Given the description of an element on the screen output the (x, y) to click on. 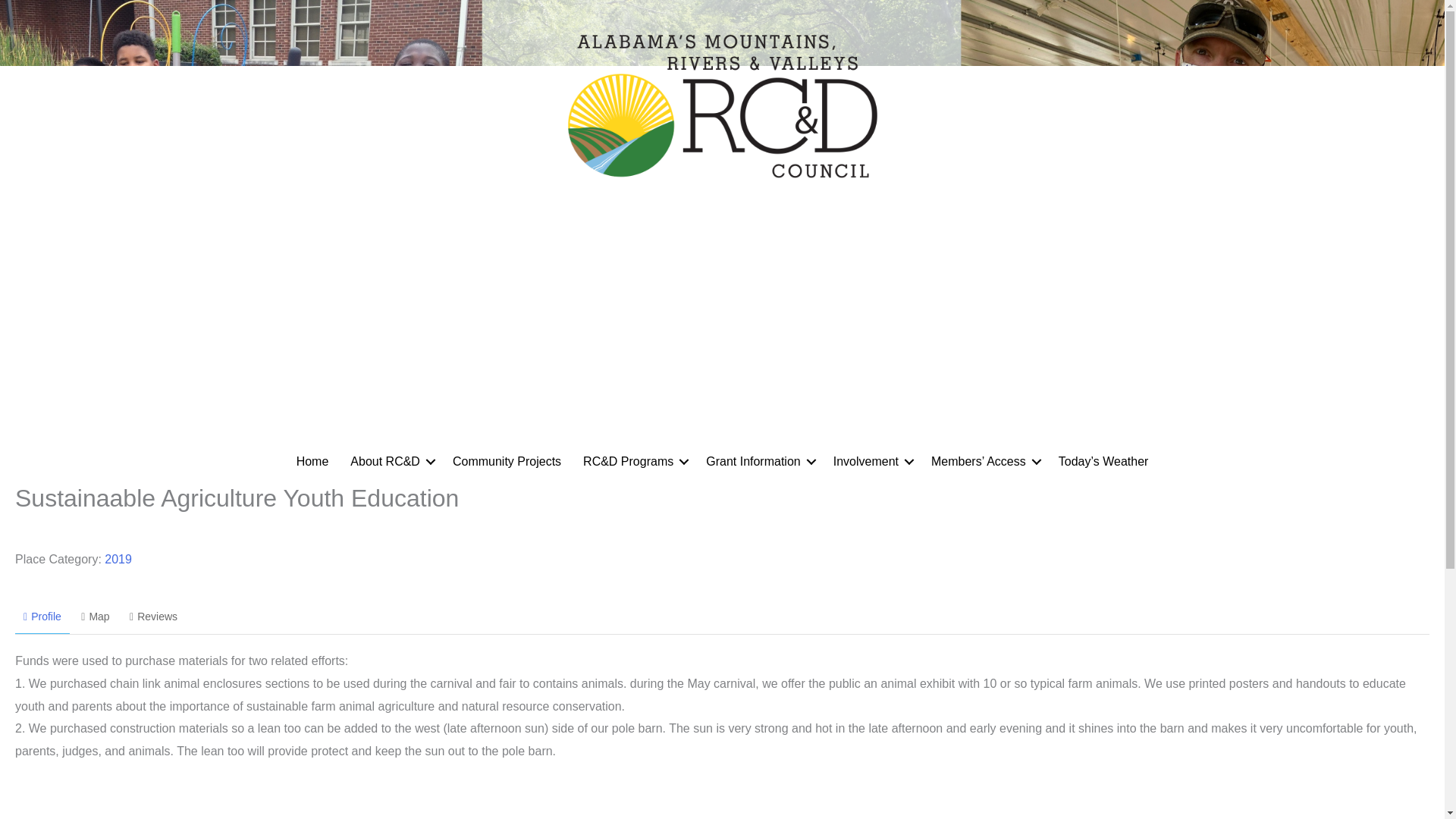
Reviews (153, 617)
Profile (41, 617)
2019 (118, 558)
Involvement (871, 461)
Home (312, 461)
Community Projects (507, 461)
Map (94, 617)
alabamamountainsriversvalleys png (721, 103)
Grant Information (758, 461)
